Given the description of an element on the screen output the (x, y) to click on. 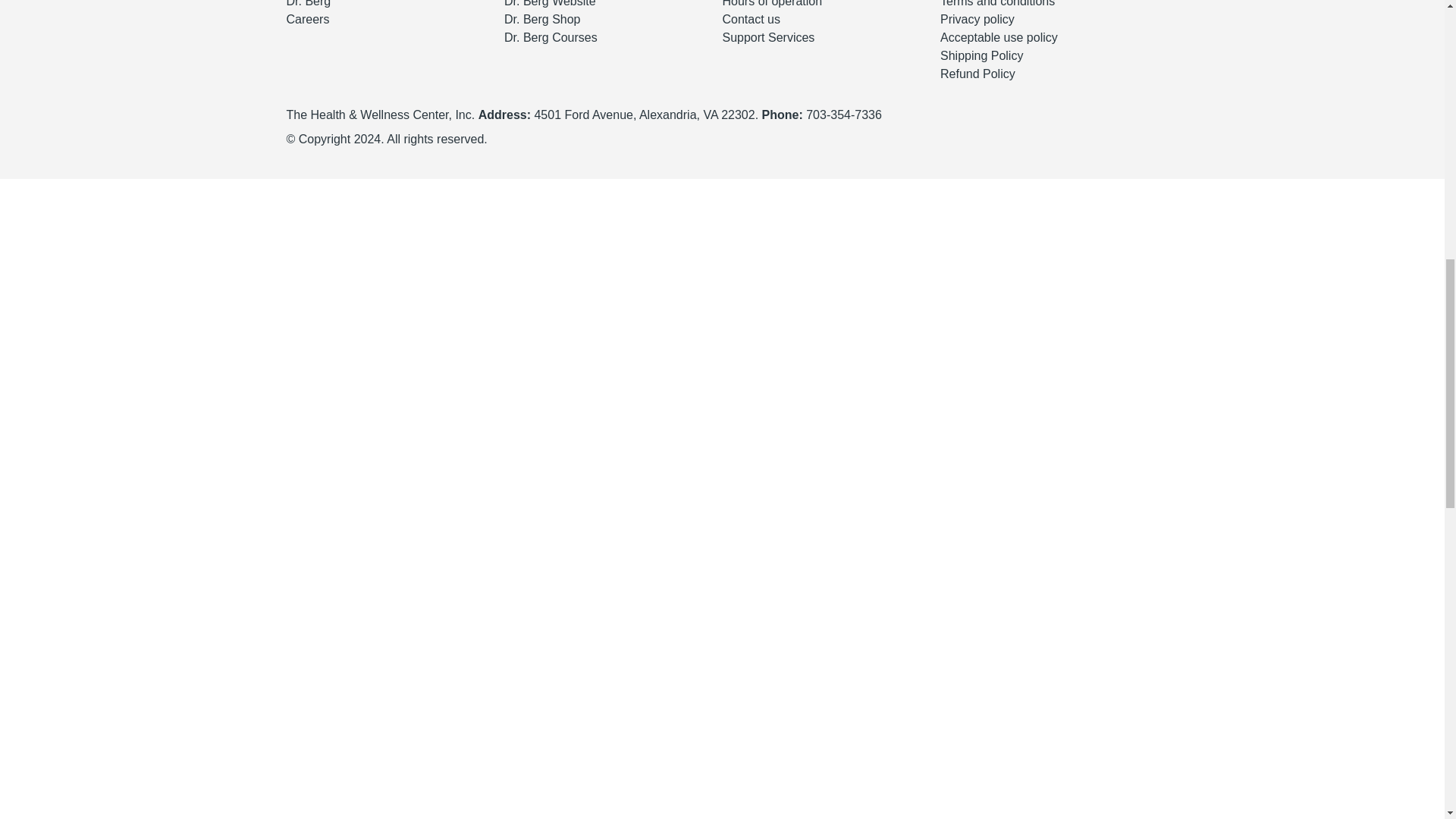
Dr. Berg Website (549, 3)
Refund Policy (977, 73)
Dr. Berg Shop (541, 19)
Acceptable use policy (999, 37)
Shipping Policy (981, 55)
Dr. Berg Courses (549, 37)
Terms and conditions (997, 3)
Careers (308, 19)
Privacy policy (977, 19)
Dr. Berg (308, 3)
Support Services (767, 37)
